Given the description of an element on the screen output the (x, y) to click on. 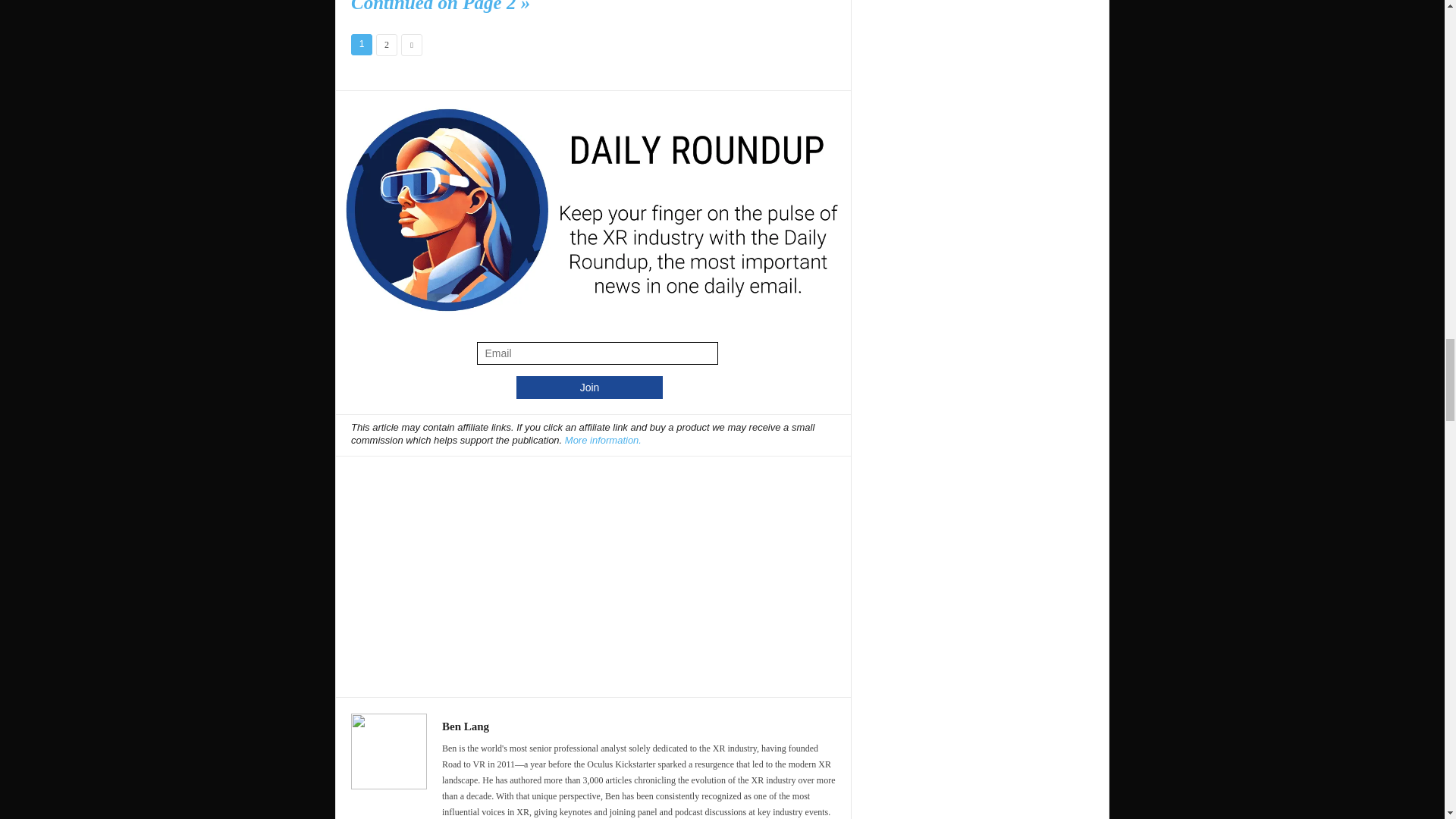
Join (589, 386)
3rd party ad content (593, 568)
